Given the description of an element on the screen output the (x, y) to click on. 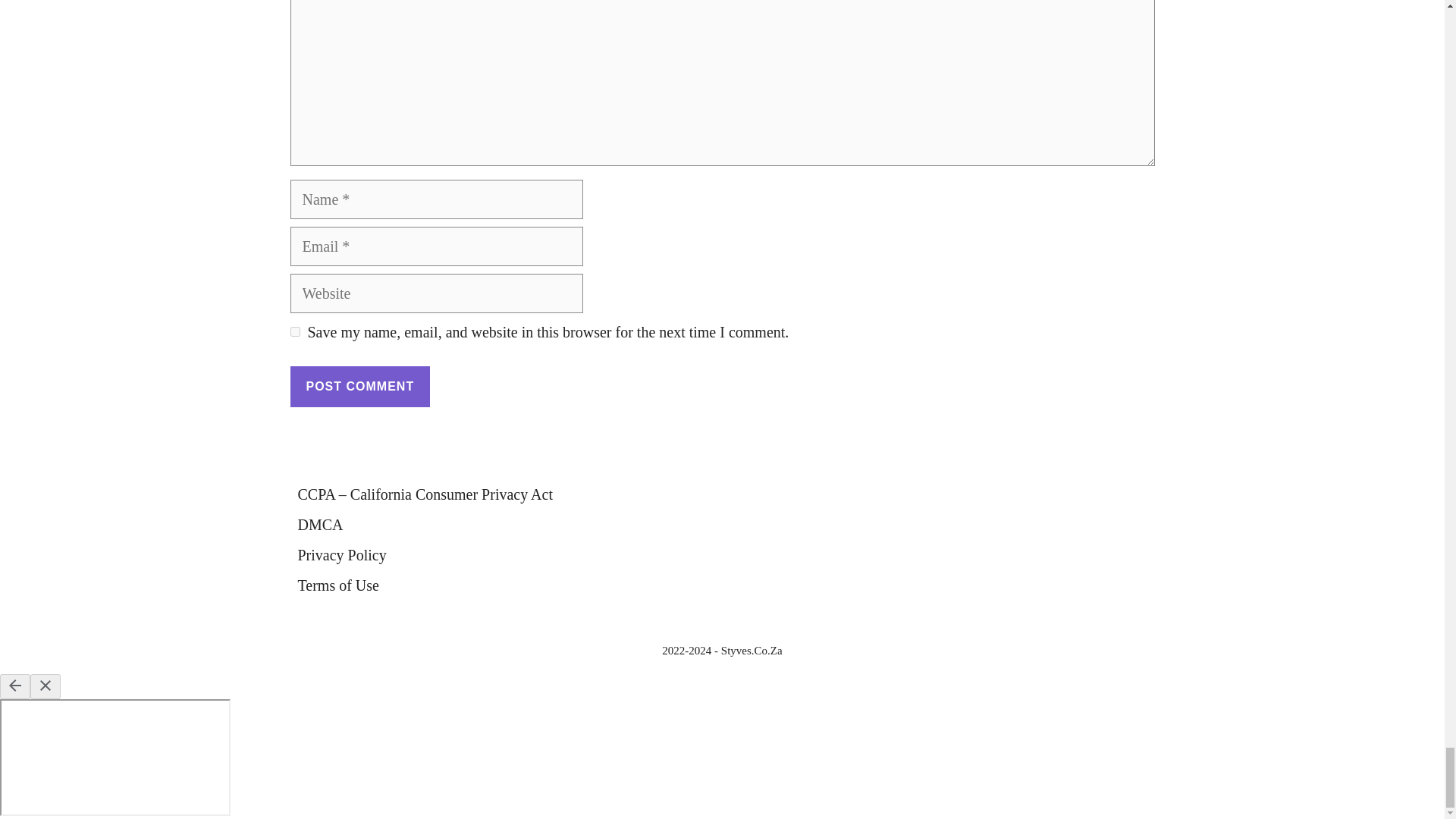
Post Comment (359, 386)
DMCA (319, 524)
Terms of Use (337, 585)
yes (294, 331)
Privacy Policy (341, 555)
Post Comment (359, 386)
